Given the description of an element on the screen output the (x, y) to click on. 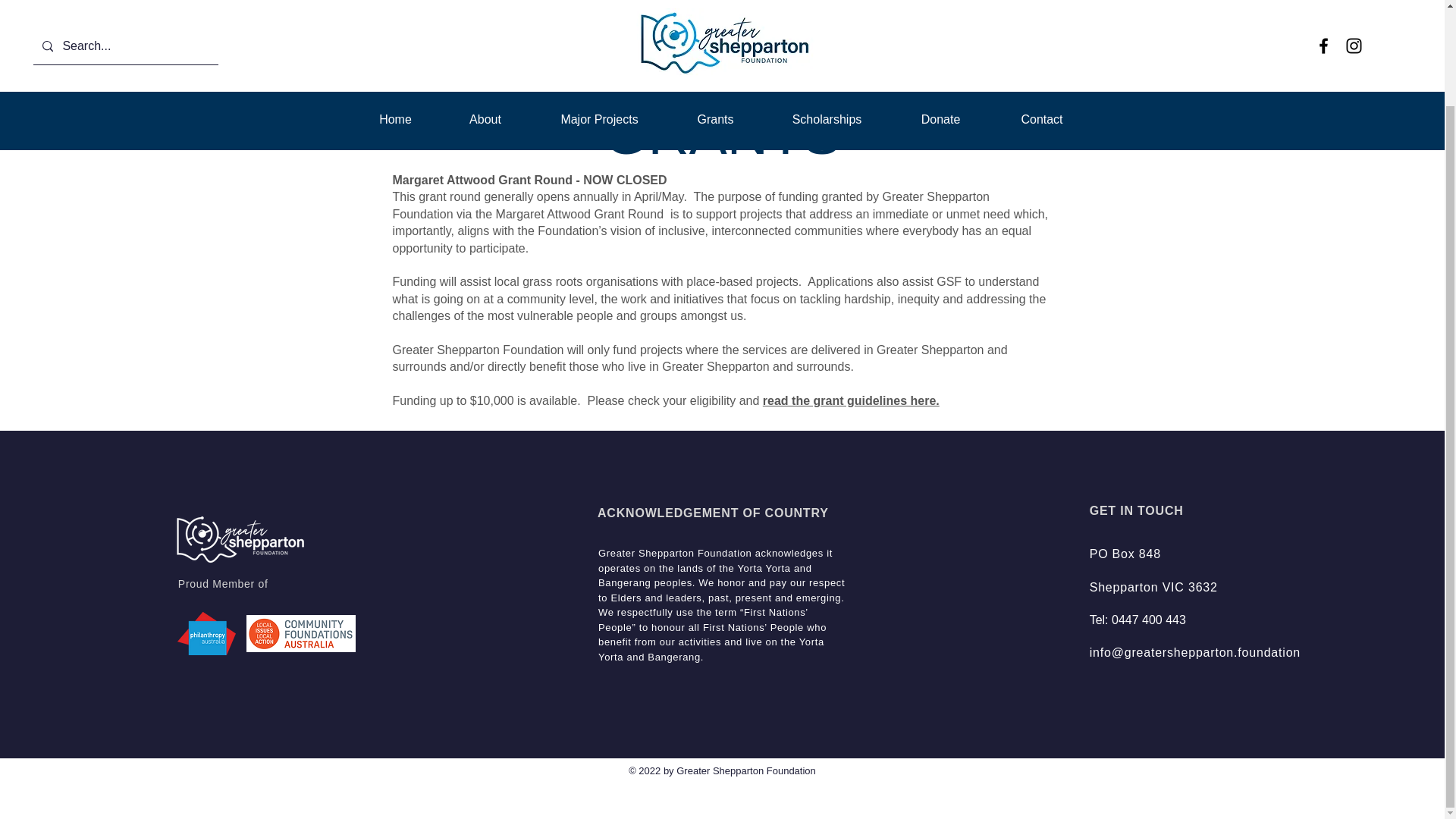
read the grant guidelines here. (850, 400)
Grants (715, 10)
Home (394, 10)
Scholarships (826, 10)
Donate (940, 10)
Contact (1042, 10)
Major Projects (599, 10)
About (484, 10)
